Given the description of an element on the screen output the (x, y) to click on. 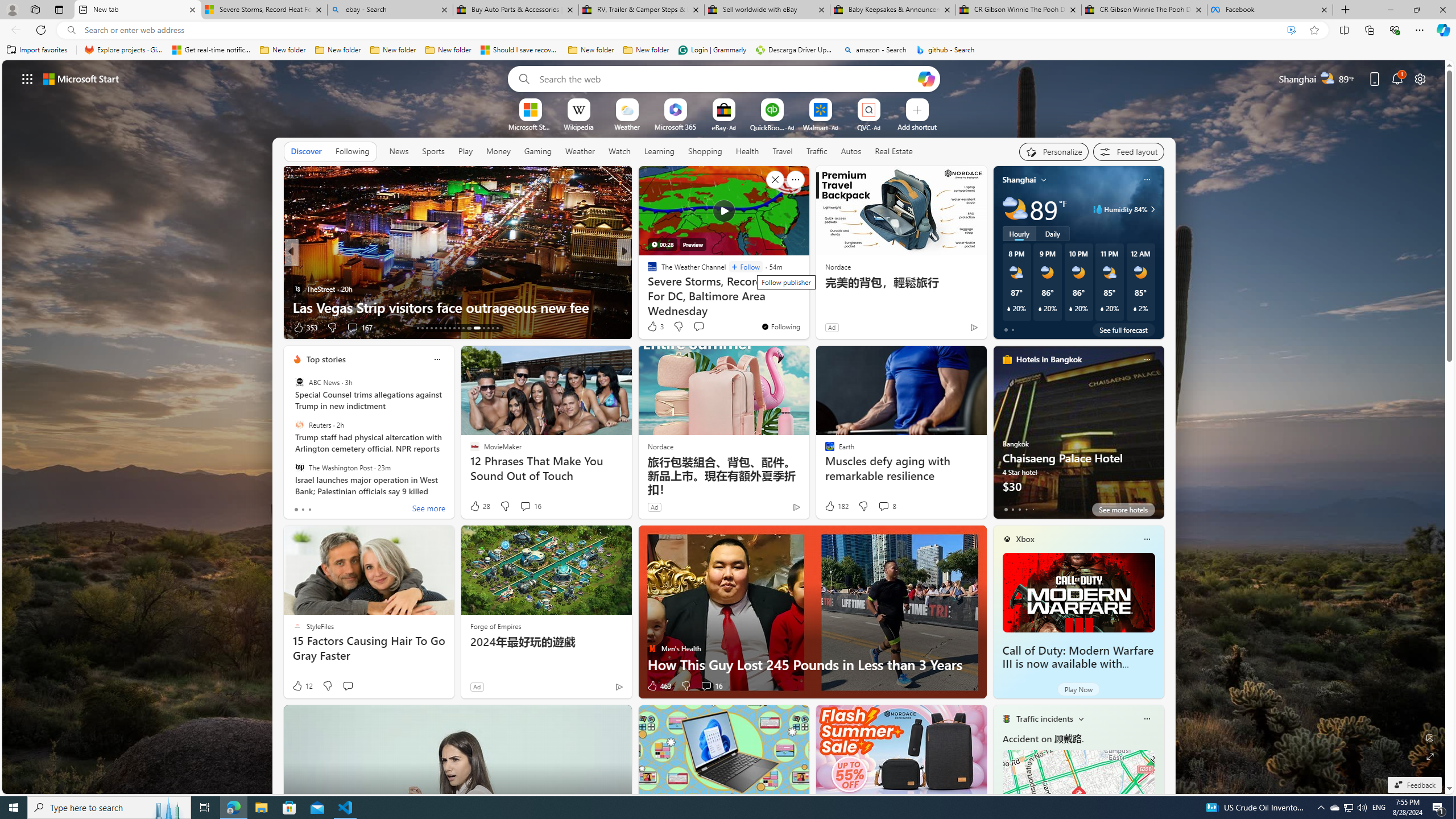
View comments 16 Comment (710, 685)
Sports (432, 151)
Travel (782, 151)
See more hotels (1123, 509)
Real Estate (893, 151)
AutomationID: tab-25 (475, 328)
ABC News (299, 382)
Reuters (299, 424)
Wikipedia (578, 126)
Hide this story (774, 179)
